Given the description of an element on the screen output the (x, y) to click on. 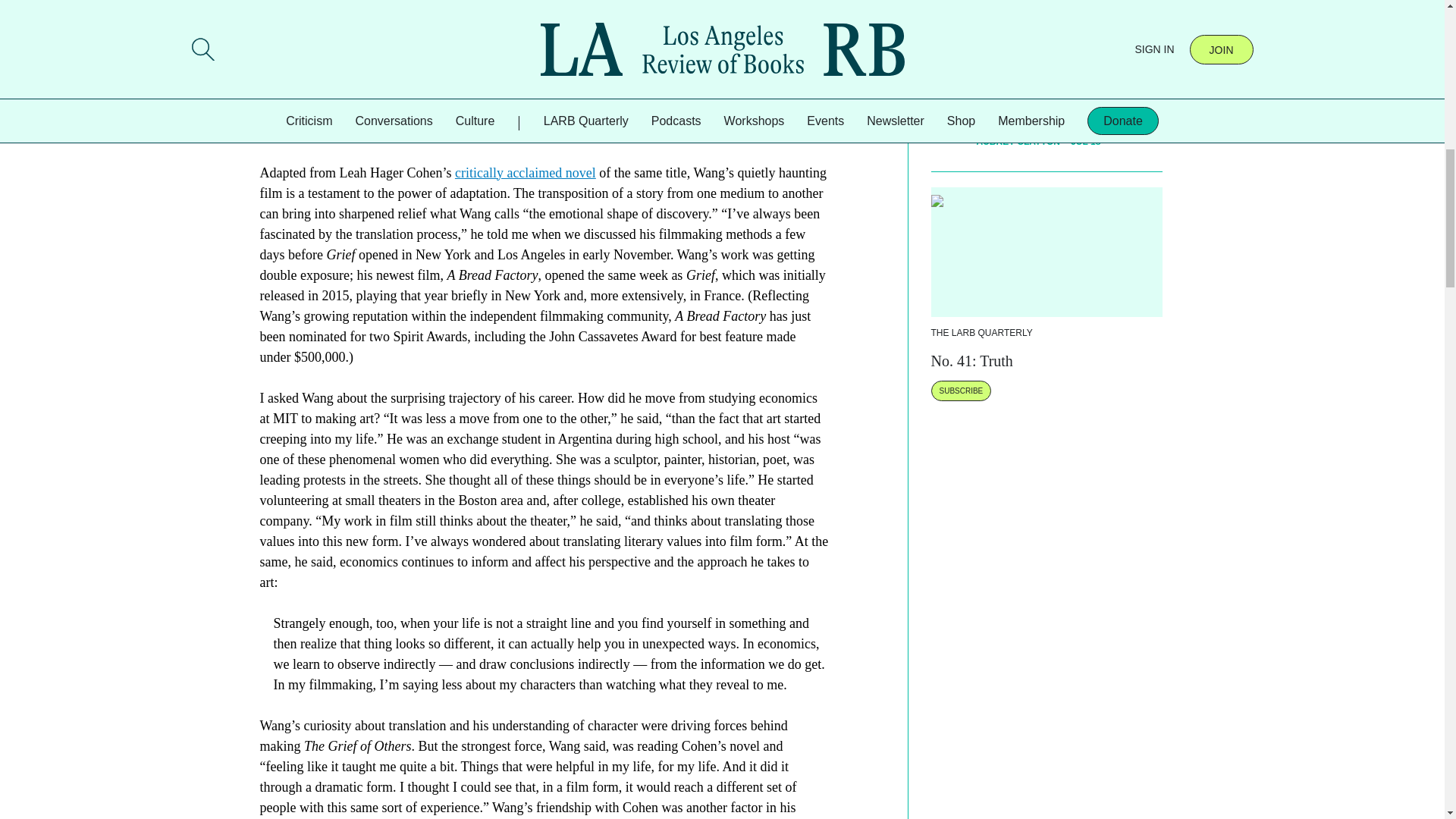
critically acclaimed novel (524, 172)
